Given the description of an element on the screen output the (x, y) to click on. 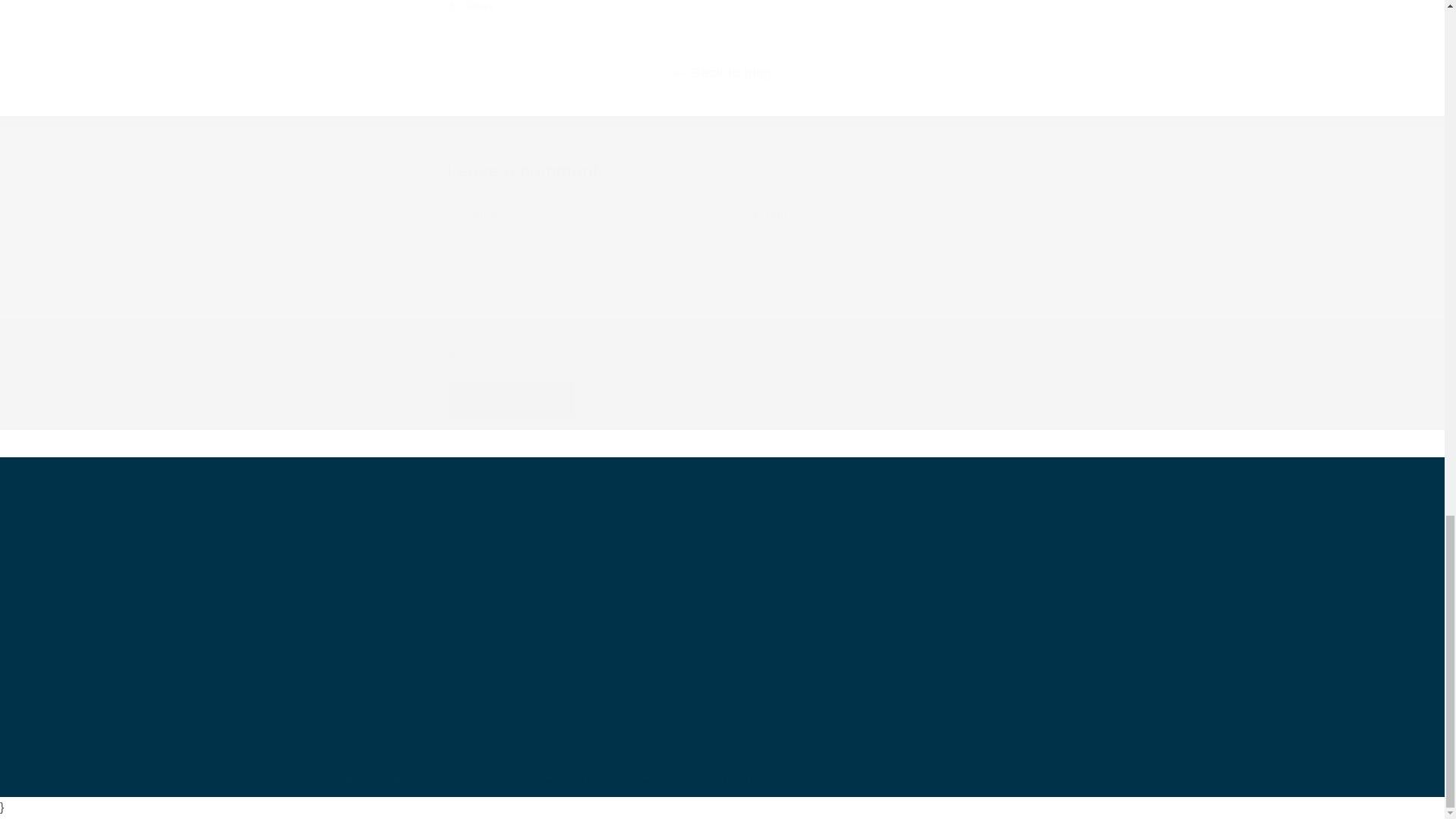
Post comment (510, 399)
Privacy policy (558, 776)
Post comment (510, 399)
Hands of Gold Kashmir (389, 777)
Instagram (764, 659)
Refund policy (485, 776)
Share (721, 11)
Facebook (731, 659)
